Given the description of an element on the screen output the (x, y) to click on. 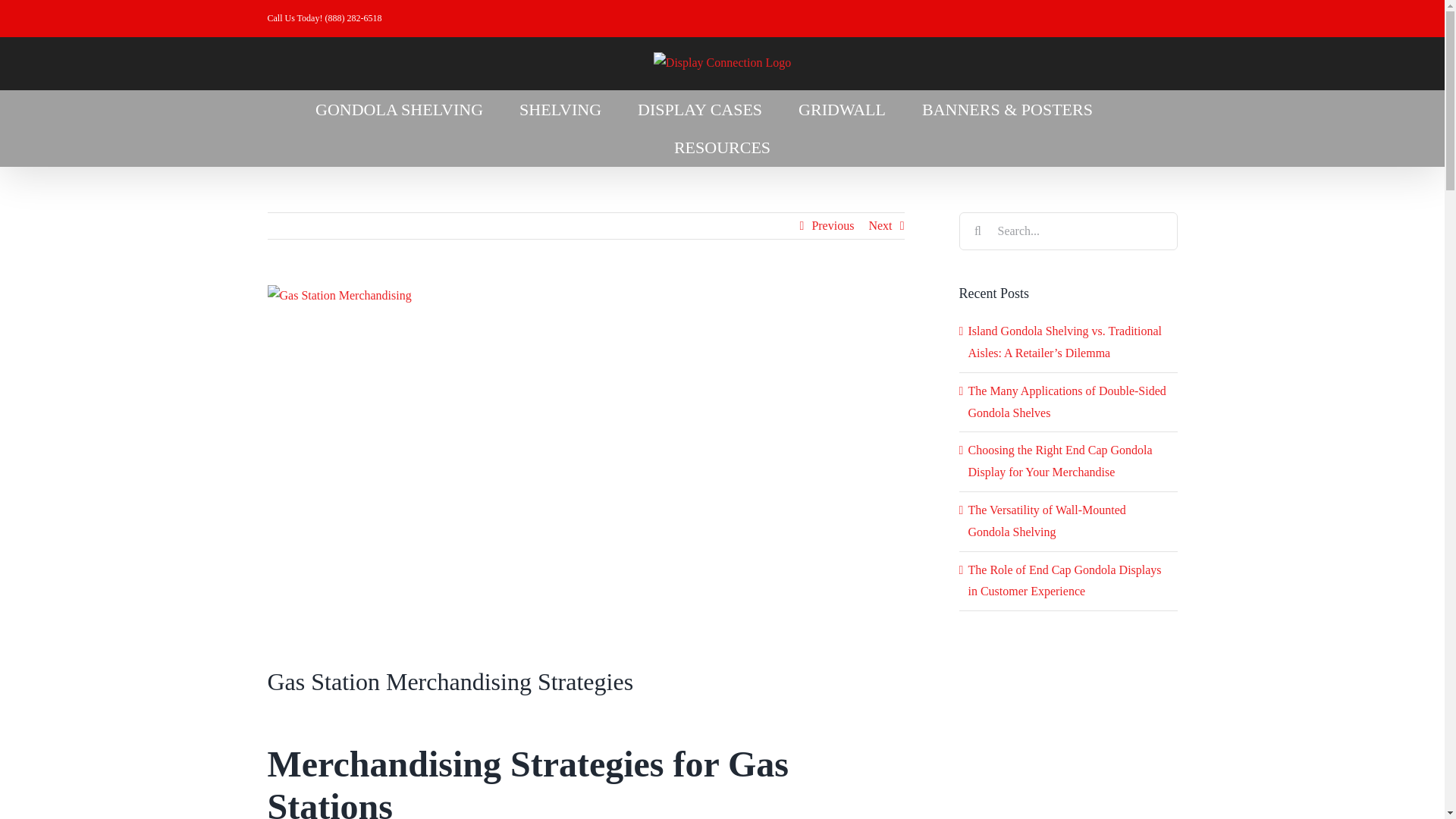
SHELVING (560, 108)
RESOURCES (722, 146)
Previous (831, 225)
Next (879, 225)
GRIDWALL (841, 108)
DISPLAY CASES (699, 108)
GONDOLA SHELVING (399, 108)
